Given the description of an element on the screen output the (x, y) to click on. 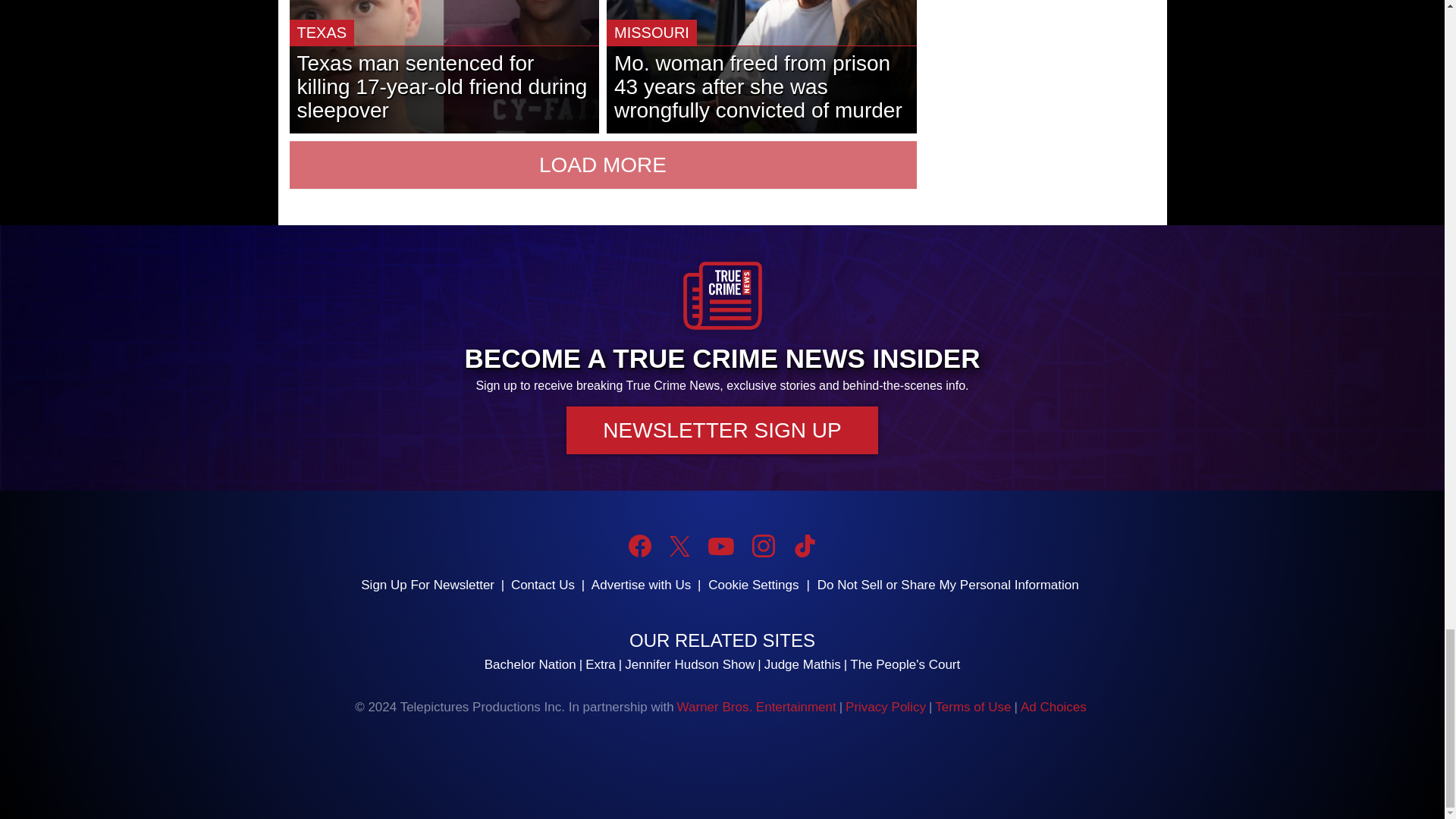
Instagram (763, 545)
Twitter (679, 546)
TikTok (804, 545)
Facebook (639, 545)
YouTube (720, 546)
